Given the description of an element on the screen output the (x, y) to click on. 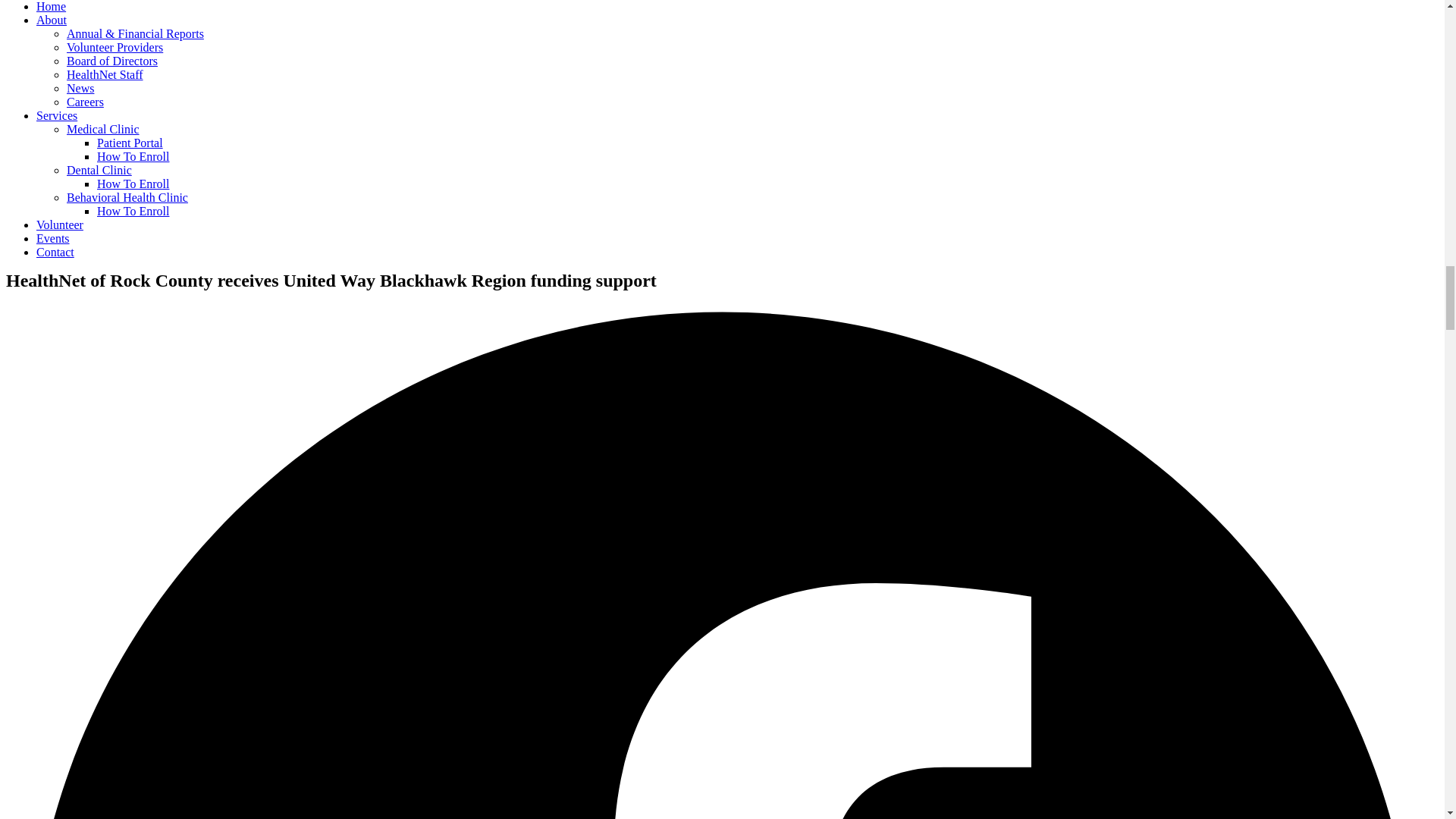
How To Enroll (132, 183)
Services (56, 115)
Board of Directors (111, 60)
HealthNet Staff (104, 74)
Home (50, 6)
About (51, 19)
Medical Clinic (102, 128)
Dental Clinic (99, 169)
How To Enroll (132, 155)
How To Enroll (132, 210)
Contact (55, 251)
News (80, 88)
Volunteer Providers (114, 47)
Behavioral Health Clinic (126, 196)
Events (52, 237)
